Given the description of an element on the screen output the (x, y) to click on. 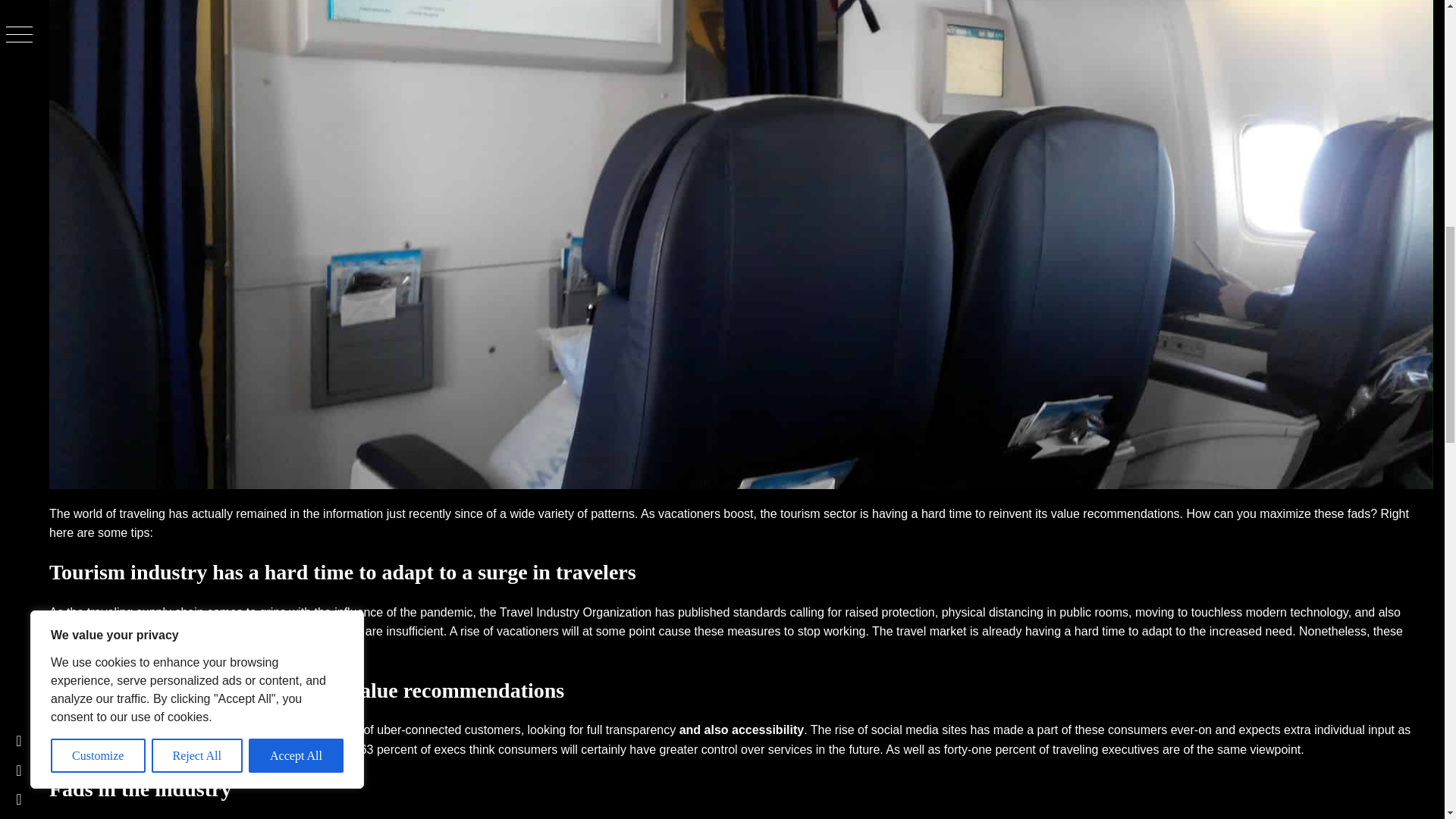
wide variety (541, 513)
transparency (641, 729)
services (177, 748)
